Given the description of an element on the screen output the (x, y) to click on. 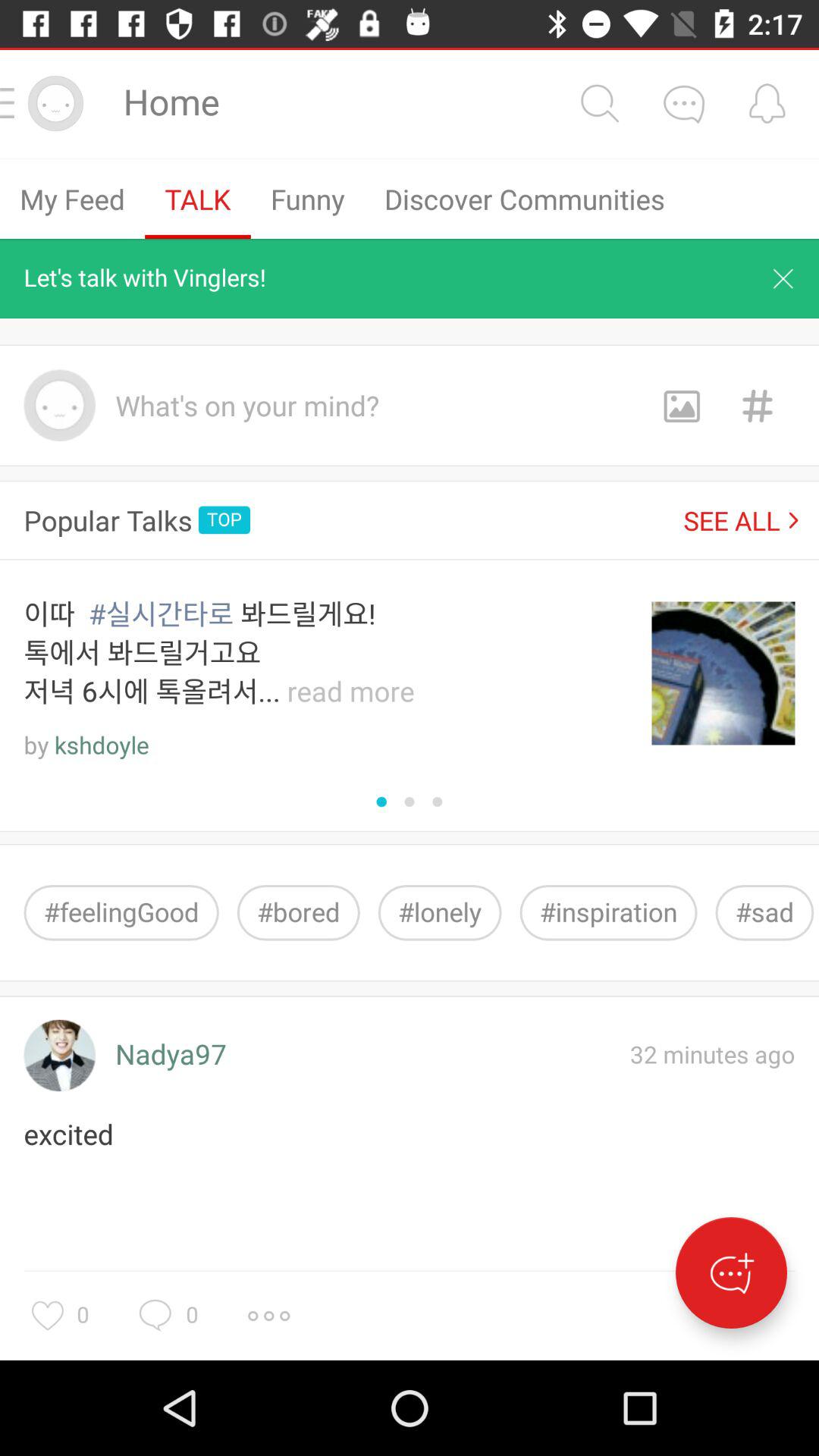
images (681, 405)
